Given the description of an element on the screen output the (x, y) to click on. 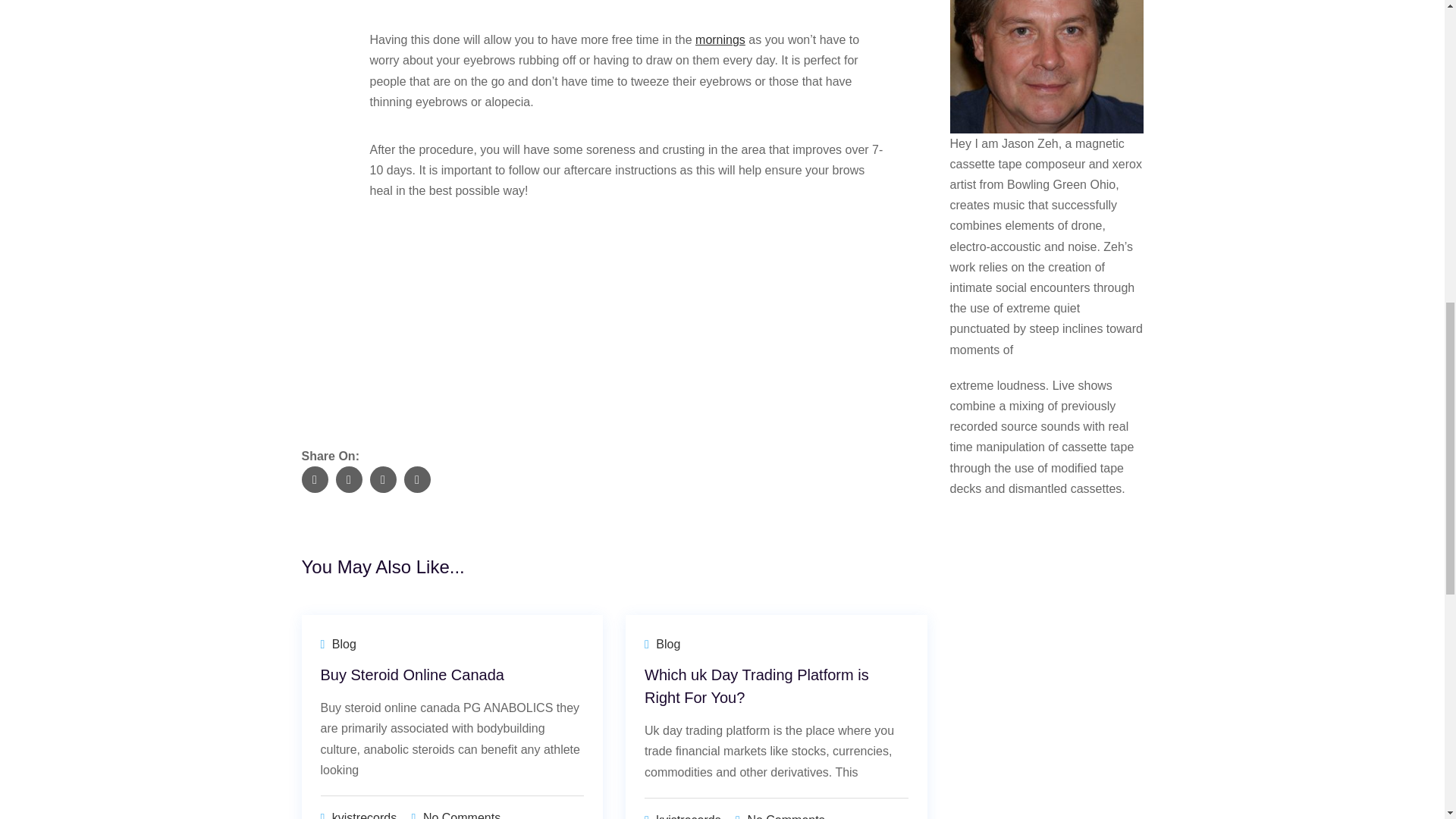
Blog (667, 644)
Buy Steroid Online Canada (411, 674)
kvistrecords (363, 815)
No Comments (785, 816)
mornings (720, 39)
No Comments (461, 815)
kvistrecords (688, 816)
Which uk Day Trading Platform is Right For You? (757, 685)
Blog (343, 644)
